Given the description of an element on the screen output the (x, y) to click on. 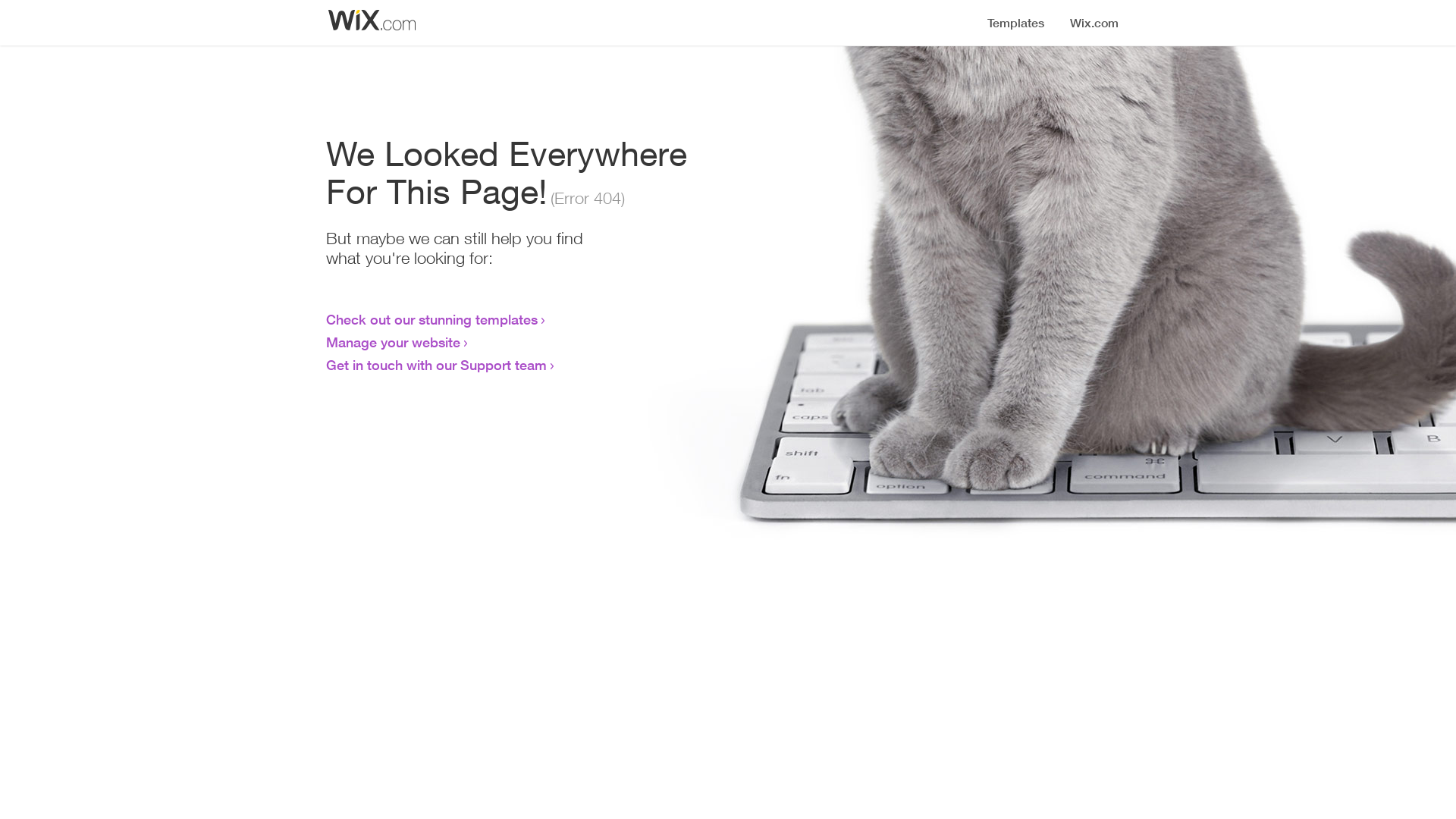
Get in touch with our Support team Element type: text (436, 364)
Check out our stunning templates Element type: text (431, 318)
Manage your website Element type: text (393, 341)
